Given the description of an element on the screen output the (x, y) to click on. 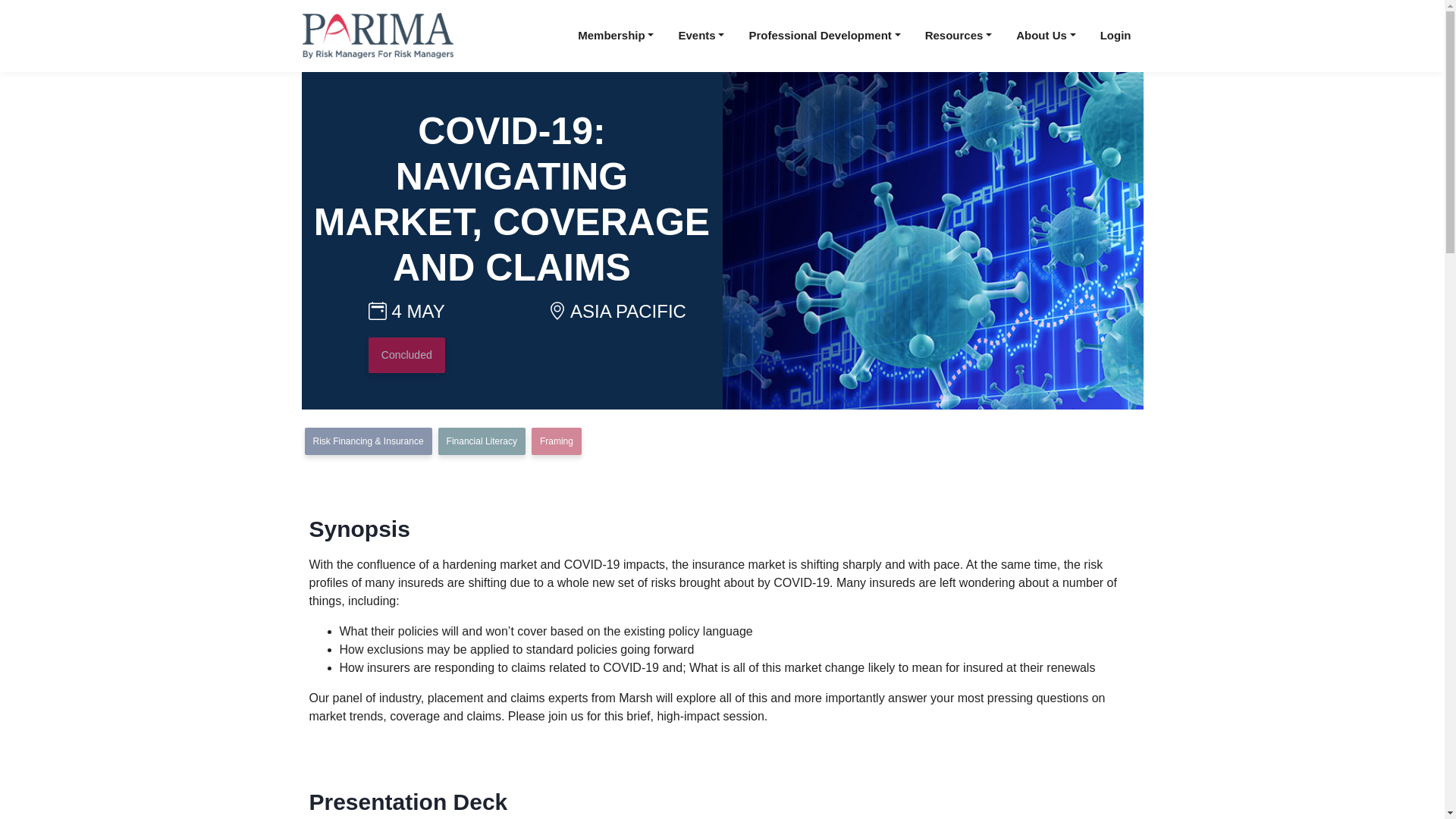
Resources (958, 35)
Login (1114, 35)
Professional Development (824, 35)
Professional Development (824, 35)
Resources (958, 35)
About Us (1045, 35)
Membership (615, 35)
Framing (555, 441)
Events (700, 35)
Concluded (406, 354)
Events (700, 35)
Financial Literacy (481, 441)
Membership (615, 35)
